Given the description of an element on the screen output the (x, y) to click on. 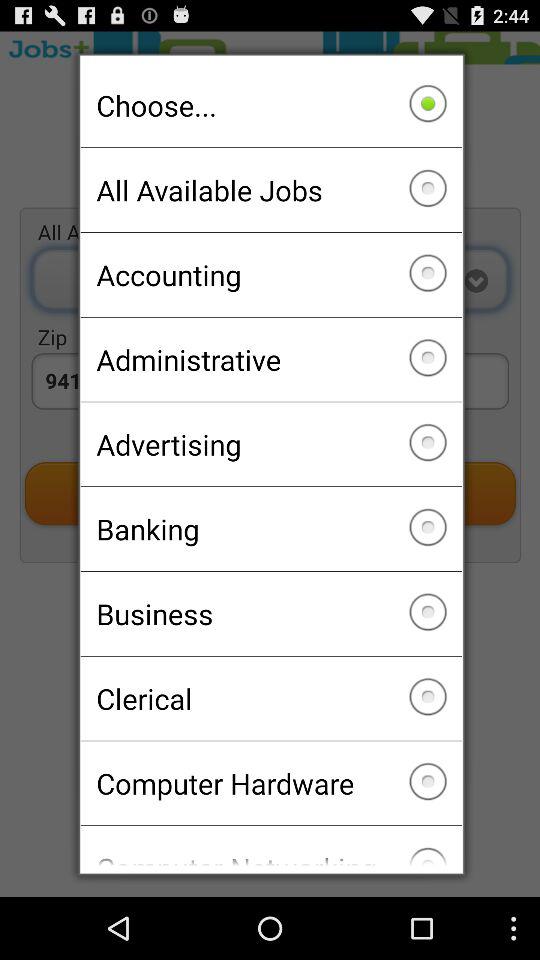
select accounting checkbox (270, 274)
